Given the description of an element on the screen output the (x, y) to click on. 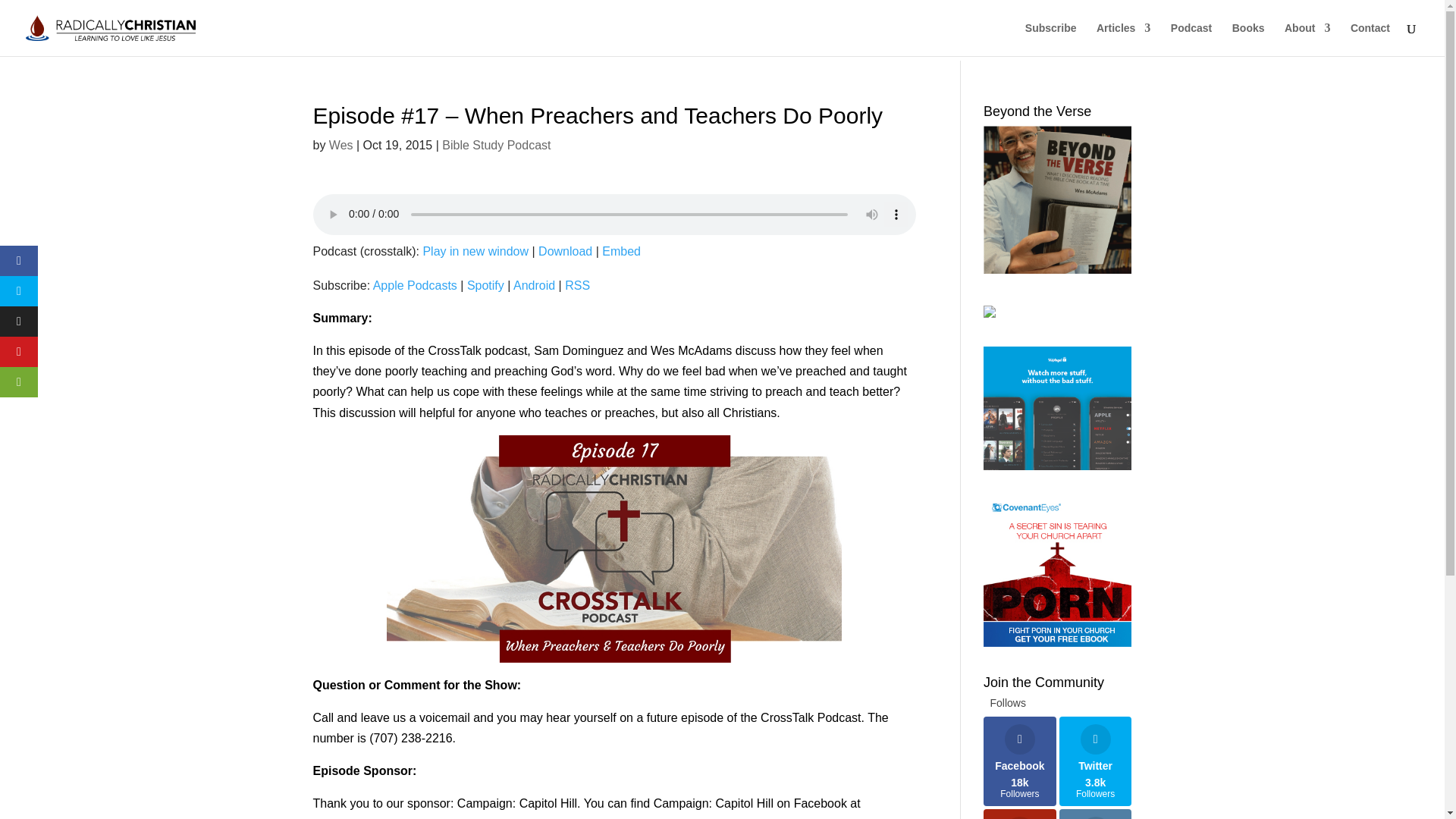
Subscribe via RSS (576, 285)
Books (1248, 39)
Embed (621, 250)
Play in new window (475, 250)
About (1307, 39)
Posts by Wes (341, 144)
Contact (1370, 39)
Embed (621, 250)
Subscribe on Apple Podcasts (414, 285)
Beyond the Verse (1057, 199)
Subscribe on Spotify (485, 285)
Android (533, 285)
Articles (1123, 39)
Subscribe on Android (533, 285)
